Given the description of an element on the screen output the (x, y) to click on. 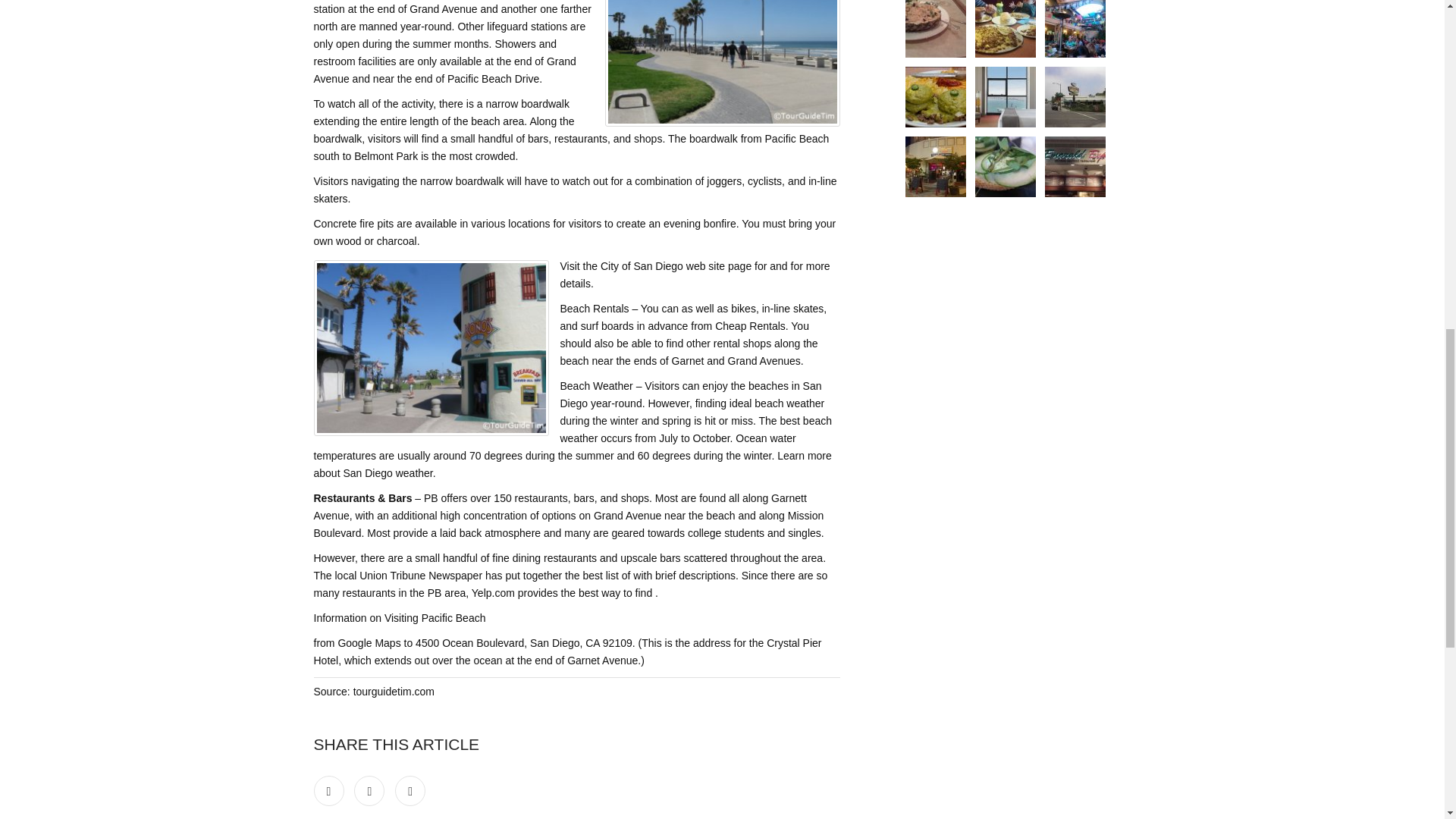
Cafe Pacifica San Diego (1075, 166)
Cafe Luna San Diego CA (935, 166)
Cafe Chloe San Diego CA (1005, 166)
Spices Thai Cafe San Diego CA (935, 28)
pacific-beach-restaurants (431, 347)
Broken Yolk Cafe Gaslamp San Diego Cafe (935, 96)
San Diego Cafe 21 (1005, 96)
Cafe Coyote San Diego CA (1075, 28)
Broken Yolk Cafe San Diego CA (1005, 28)
pacific-beach-boardwalk (722, 63)
Spice House Cafe San Diego Cafe (1075, 96)
